Given the description of an element on the screen output the (x, y) to click on. 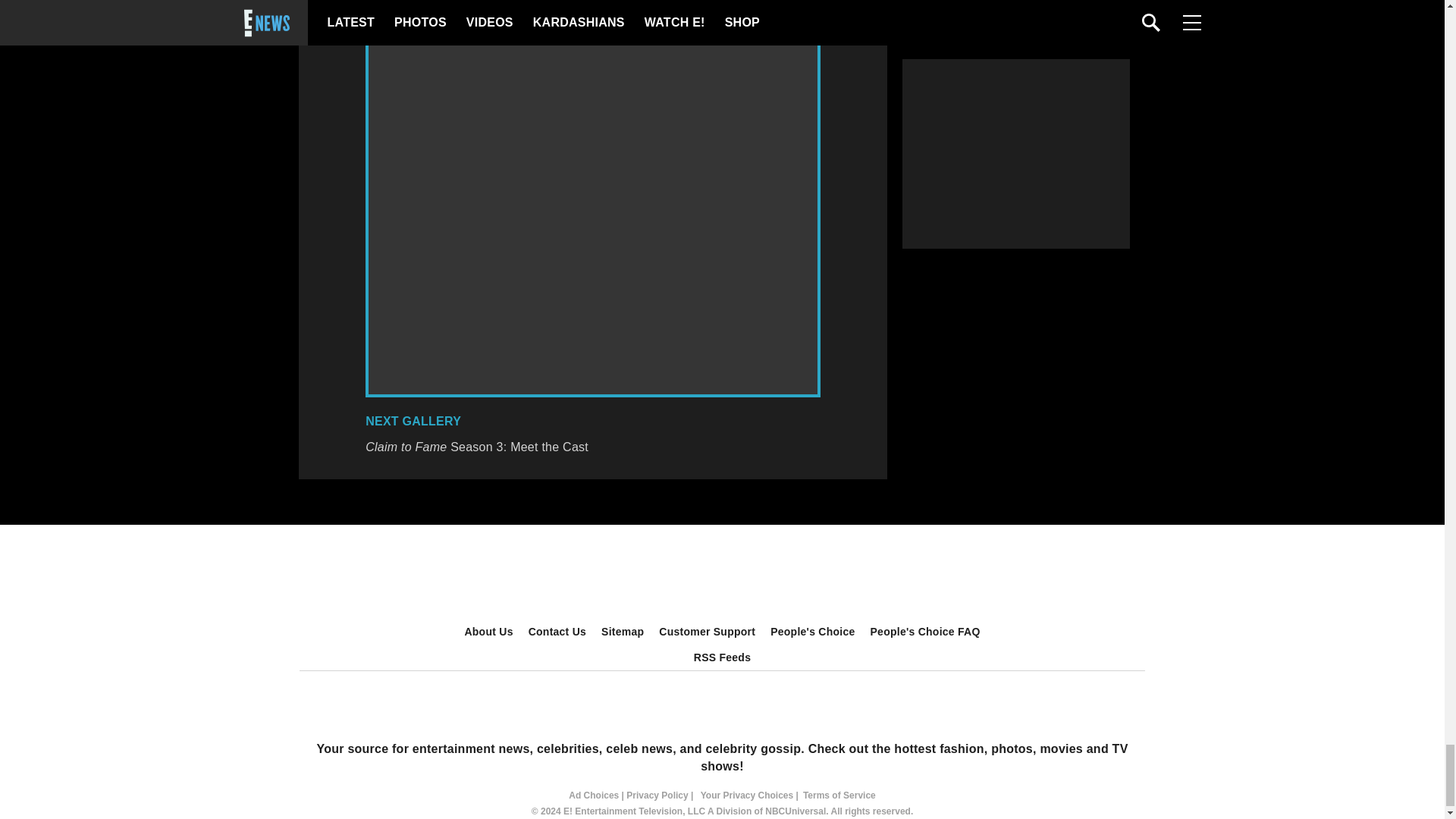
About Us (488, 631)
Customer Support (706, 631)
Sitemap (622, 631)
People's Choice (811, 631)
